Given the description of an element on the screen output the (x, y) to click on. 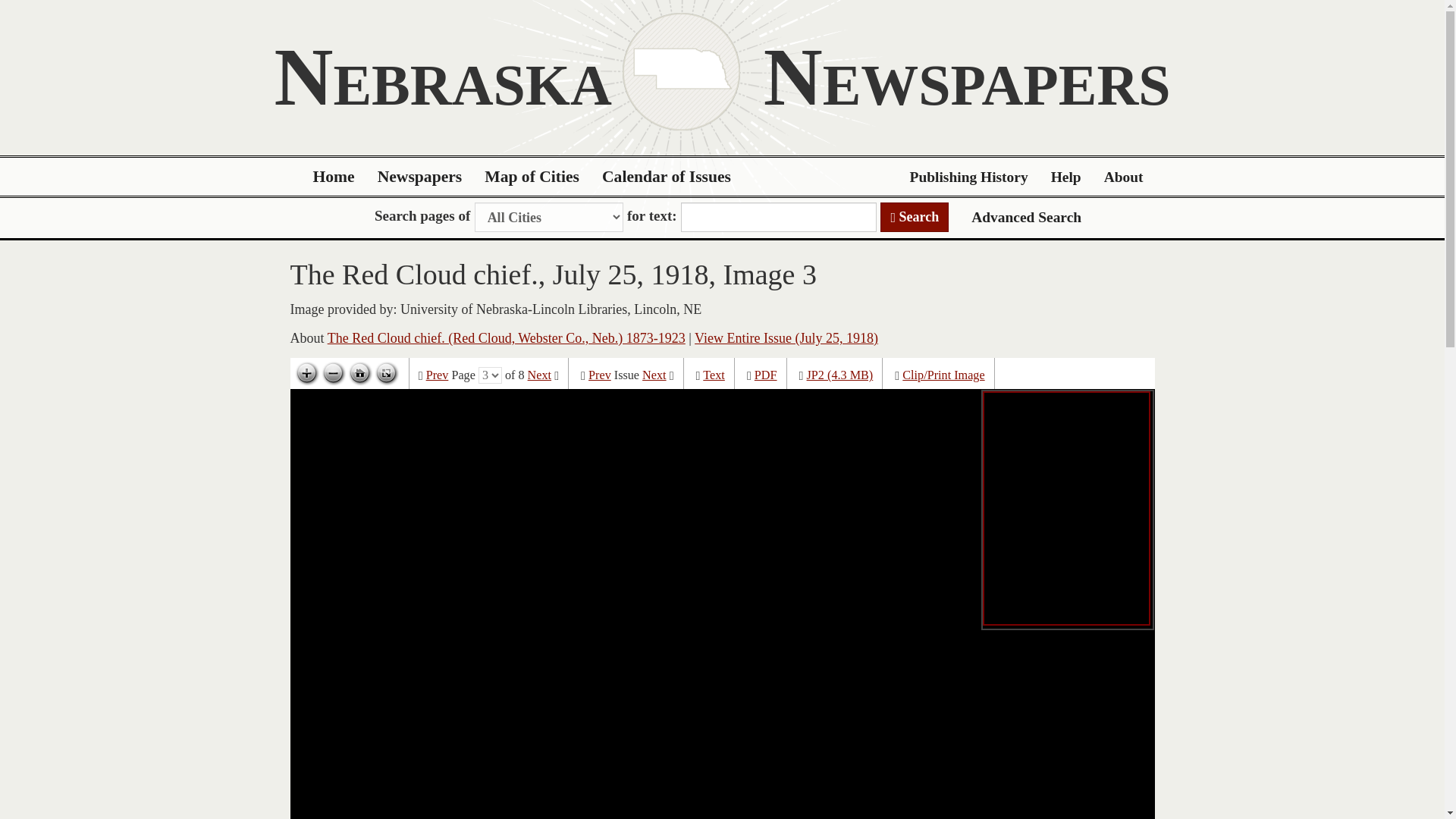
Prev (437, 375)
Help (1066, 176)
Zoom out (333, 373)
Text (714, 375)
Zoom in (307, 373)
Search (914, 217)
Next (653, 375)
About (1123, 176)
Publishing History (968, 176)
Prev (599, 375)
Newspapers (420, 176)
Next (539, 375)
Advanced Search (1026, 216)
Go home (359, 373)
Map of Cities (532, 176)
